Given the description of an element on the screen output the (x, y) to click on. 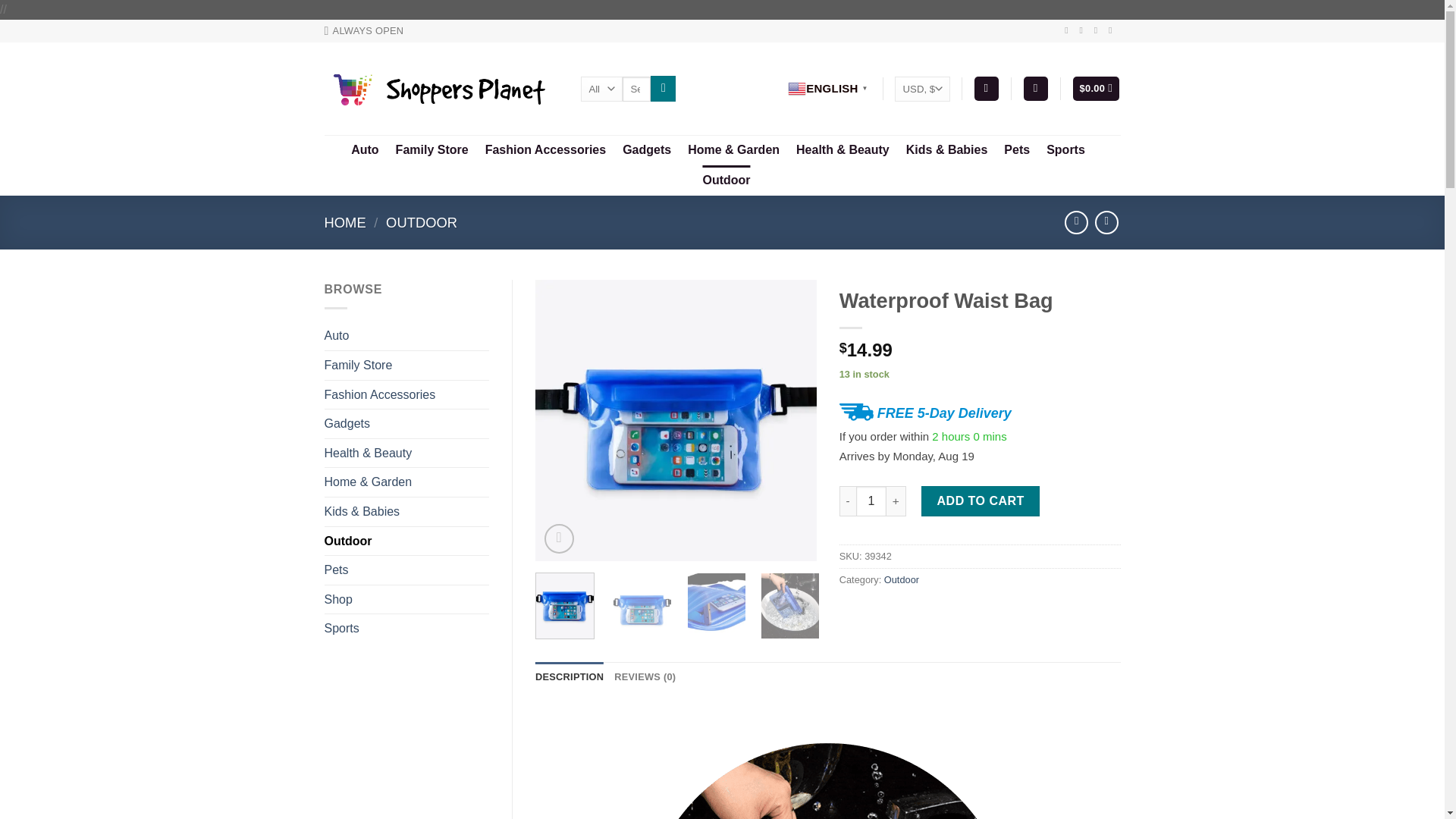
ALWAYS OPEN  (364, 30)
Shoppers Planet (440, 88)
HOME (345, 222)
1 (871, 501)
Outdoor (725, 180)
OUTDOOR (421, 222)
Auto (364, 150)
Gadgets (647, 150)
ALWAYS OPEN (364, 30)
Search (662, 88)
